Given the description of an element on the screen output the (x, y) to click on. 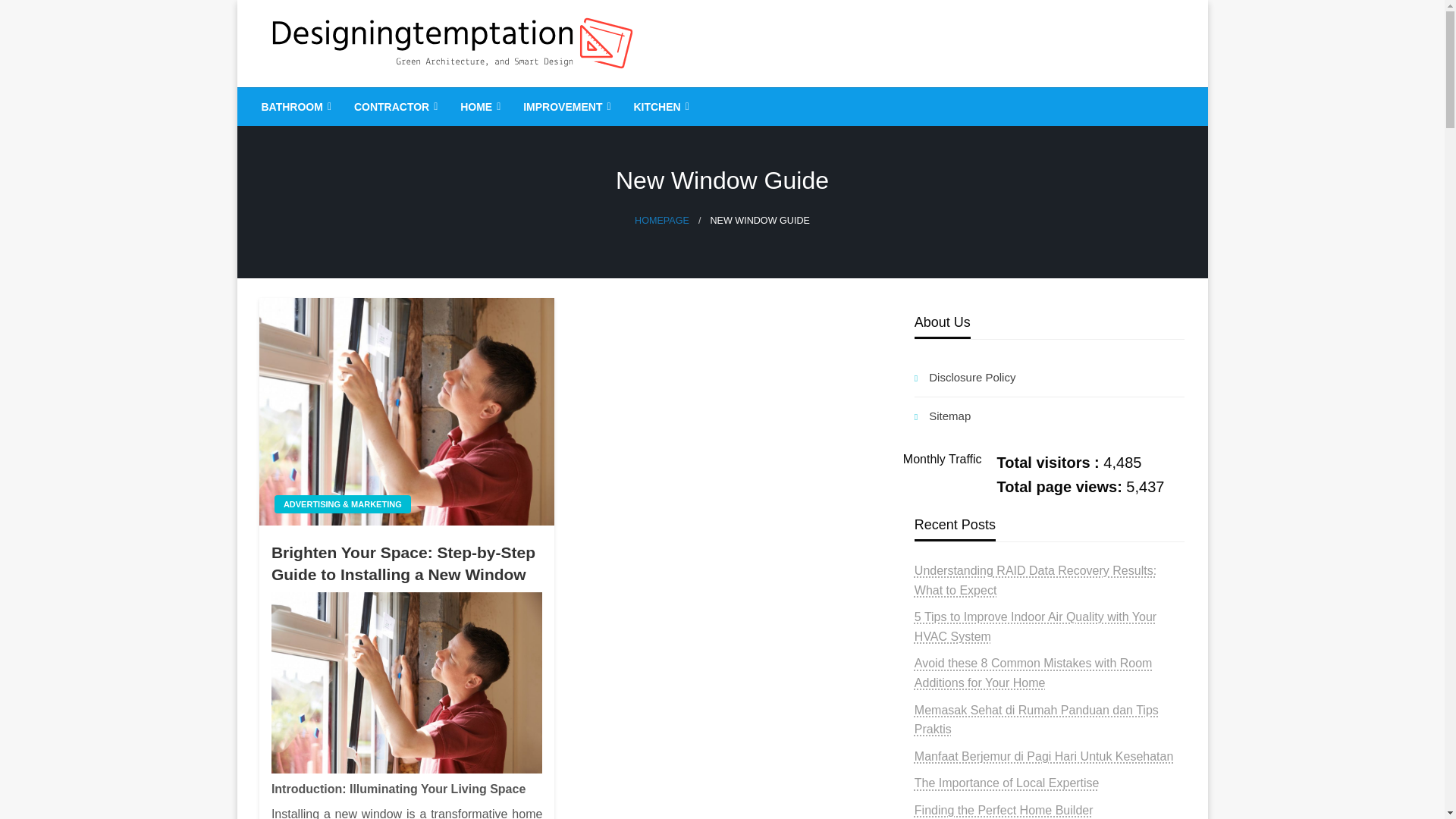
Sitemap (1049, 415)
Disclosure Policy (1049, 377)
KITCHEN (659, 106)
CONTRACTOR (393, 106)
HOMEPAGE (661, 220)
Understanding RAID Data Recovery Results: What to Expect (1035, 580)
IMPROVEMENT (565, 106)
Homepage (661, 220)
HOME (478, 106)
Designingtemptation (401, 99)
BATHROOM (294, 106)
